Given the description of an element on the screen output the (x, y) to click on. 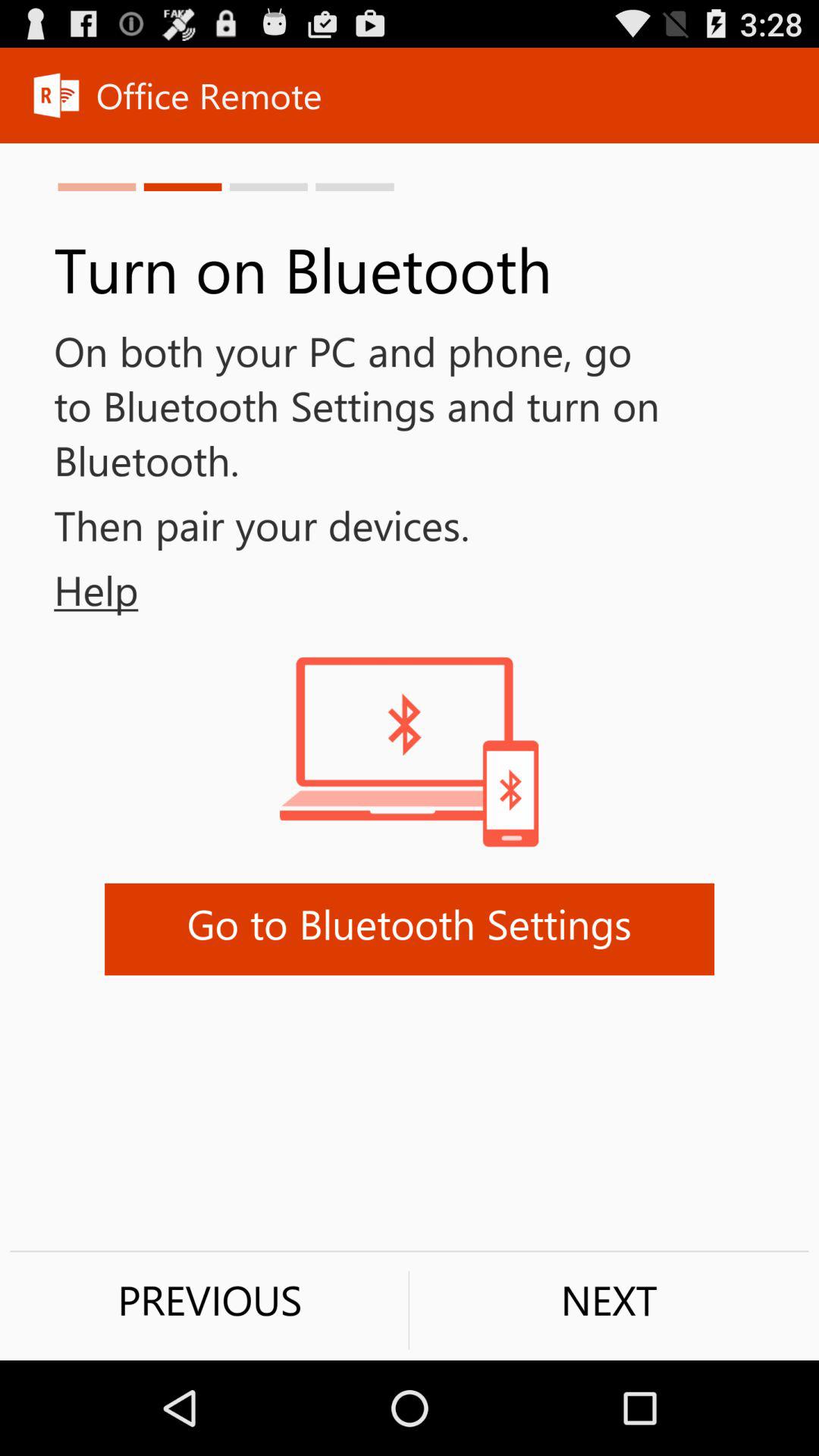
launch previous icon (209, 1300)
